Given the description of an element on the screen output the (x, y) to click on. 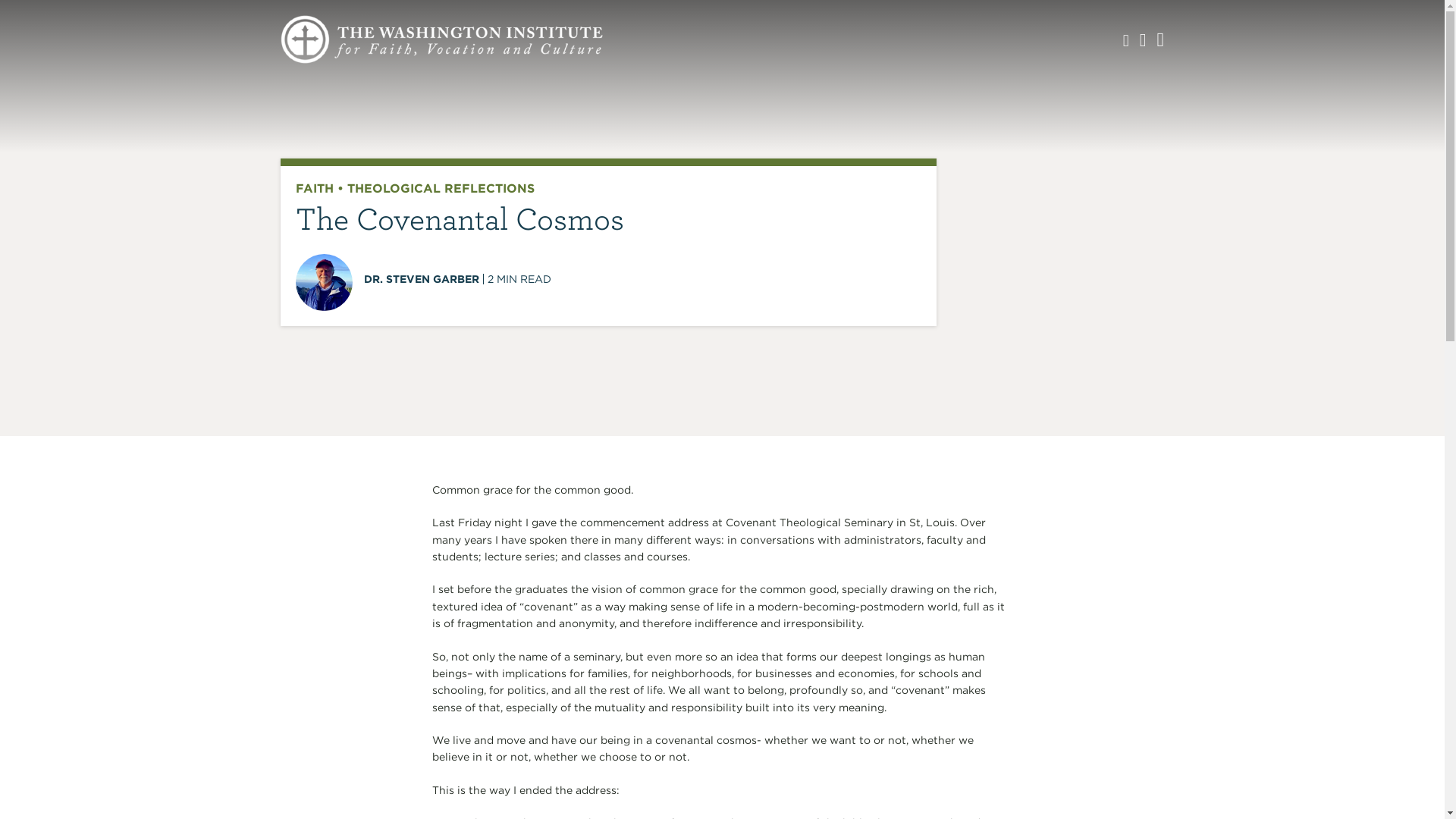
THEOLOGICAL REFLECTIONS (440, 187)
FAITH (314, 187)
DR. STEVEN GARBER (421, 278)
Posts by Dr. Steven Garber (421, 278)
